Given the description of an element on the screen output the (x, y) to click on. 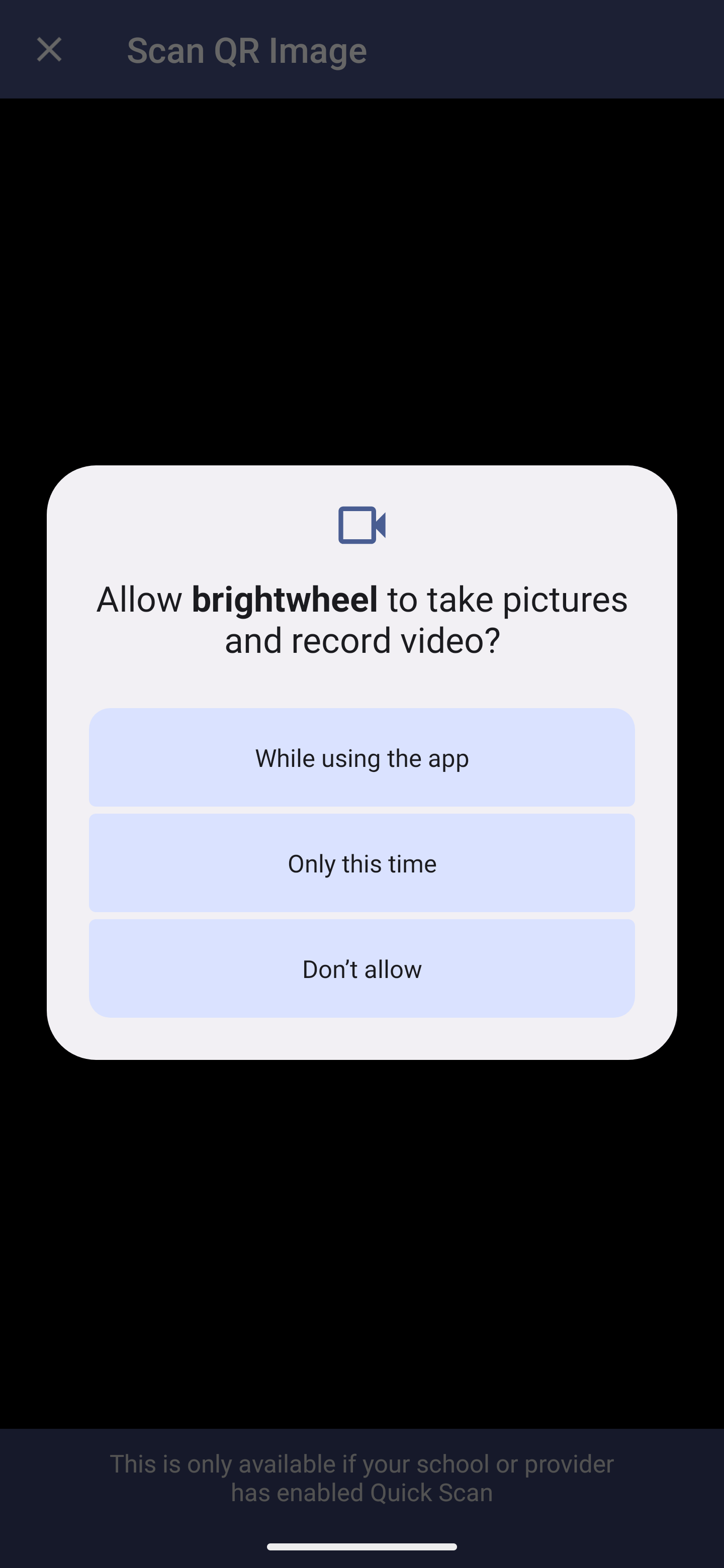
While using the app (361, 756)
Only this time (361, 862)
Don’t allow (361, 967)
